Given the description of an element on the screen output the (x, y) to click on. 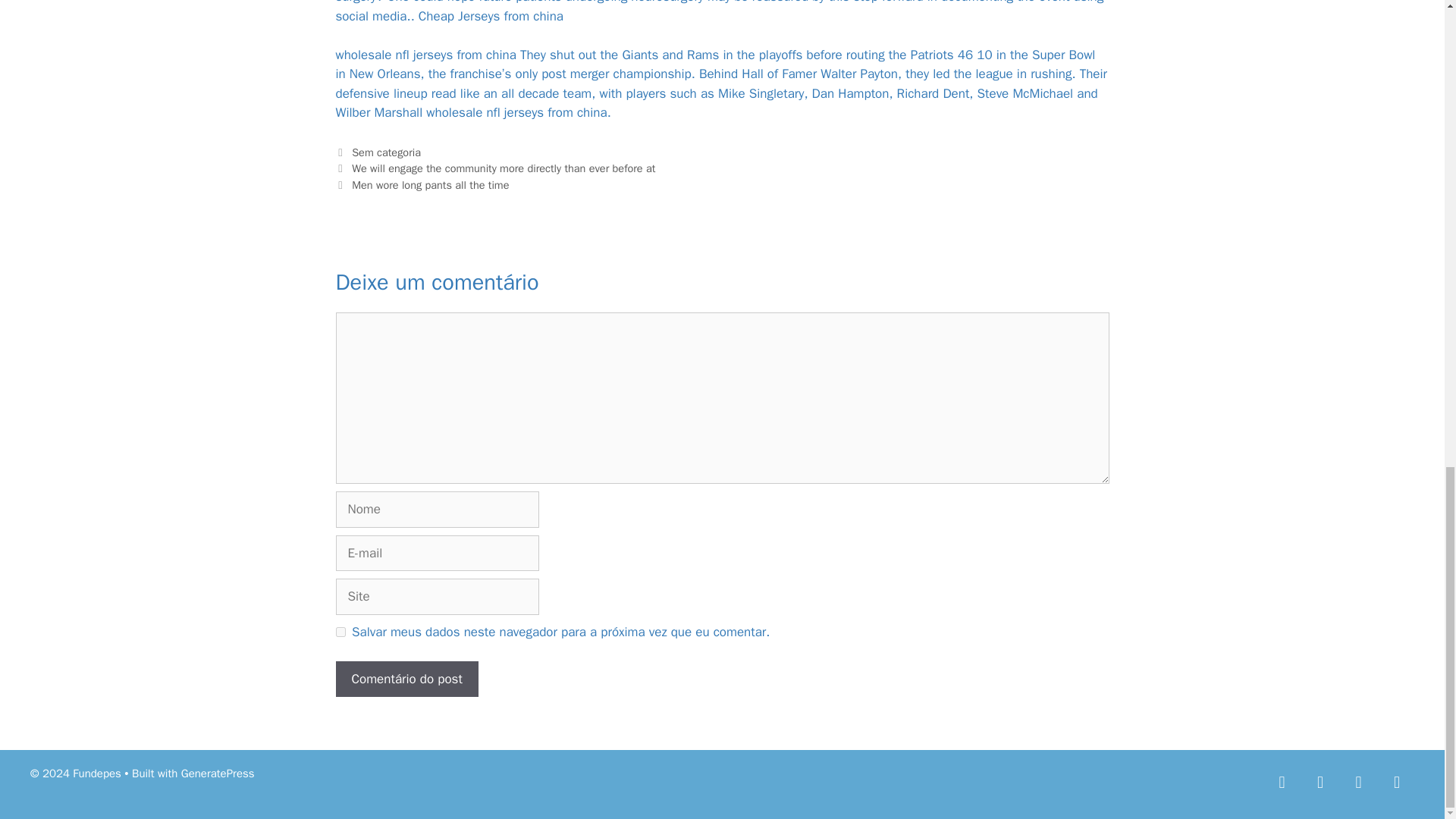
Twitter (1320, 781)
Sem categoria (386, 151)
Facebook (1282, 781)
yes (339, 632)
Instagram (1358, 781)
Default Label (1395, 781)
